Given the description of an element on the screen output the (x, y) to click on. 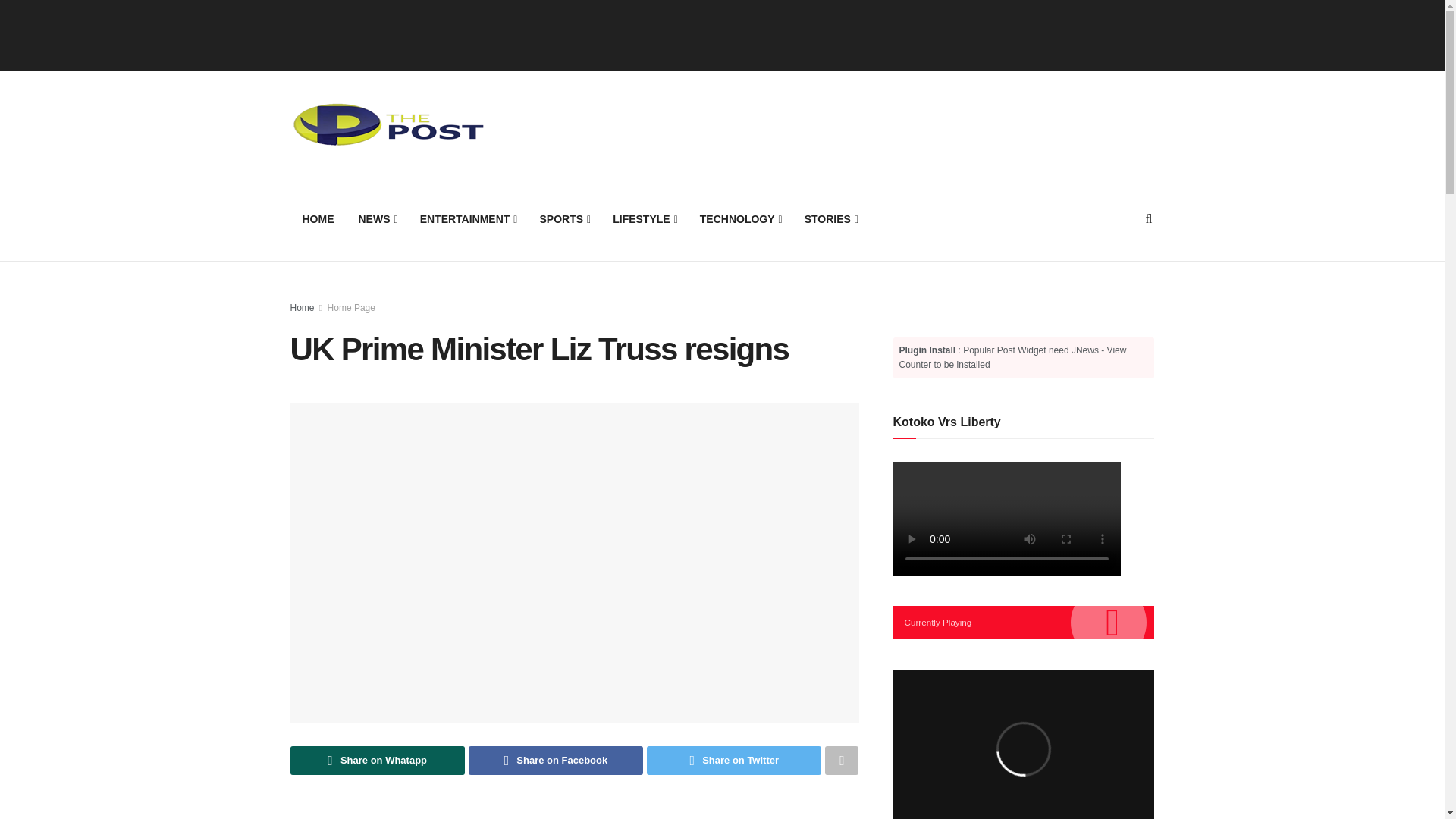
HOME (317, 218)
NEWS (376, 218)
ENTERTAINMENT (467, 218)
